Given the description of an element on the screen output the (x, y) to click on. 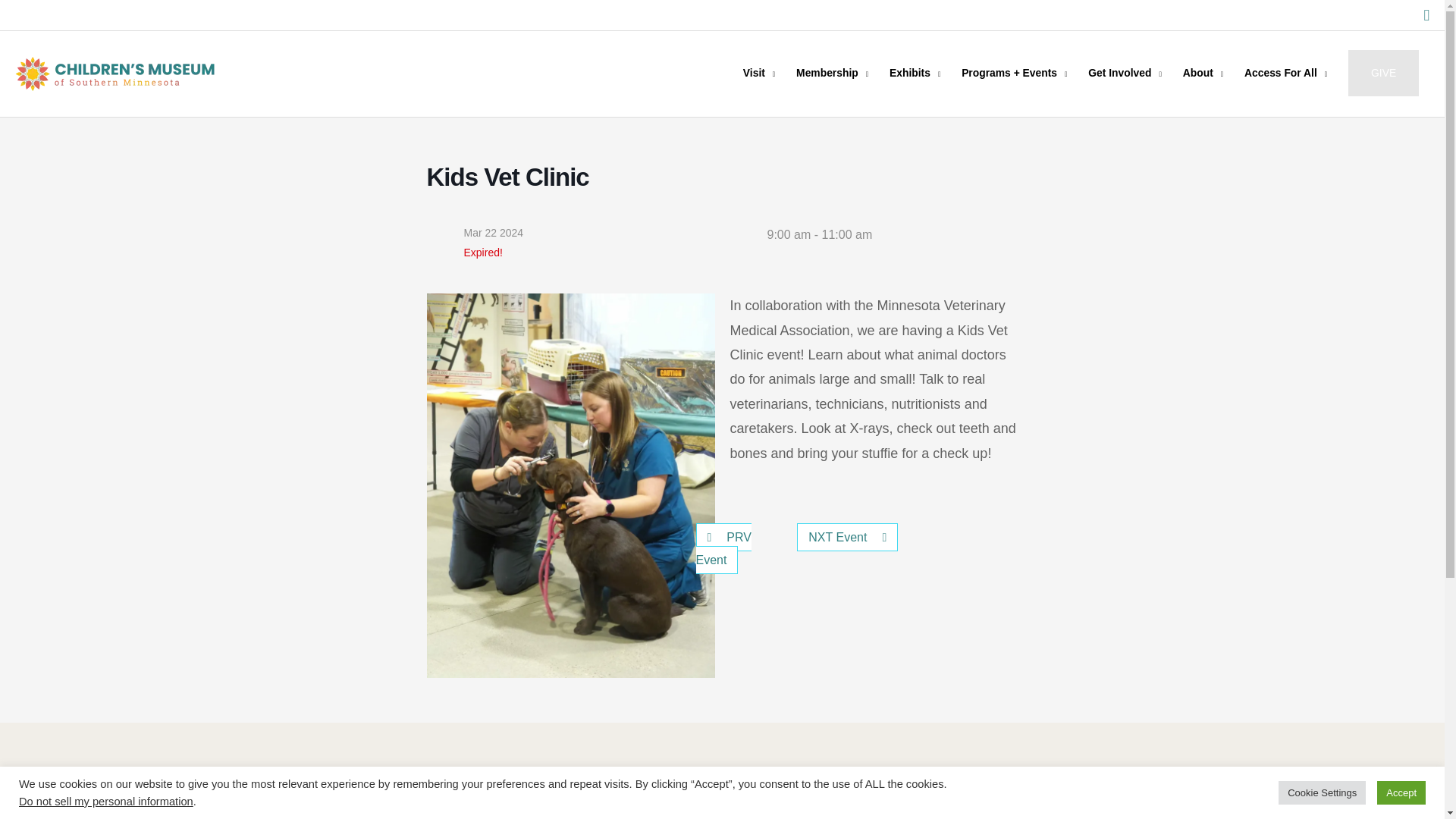
Exhibits (914, 73)
Membership (832, 73)
Visit (759, 73)
Get Involved (1124, 73)
